Given the description of an element on the screen output the (x, y) to click on. 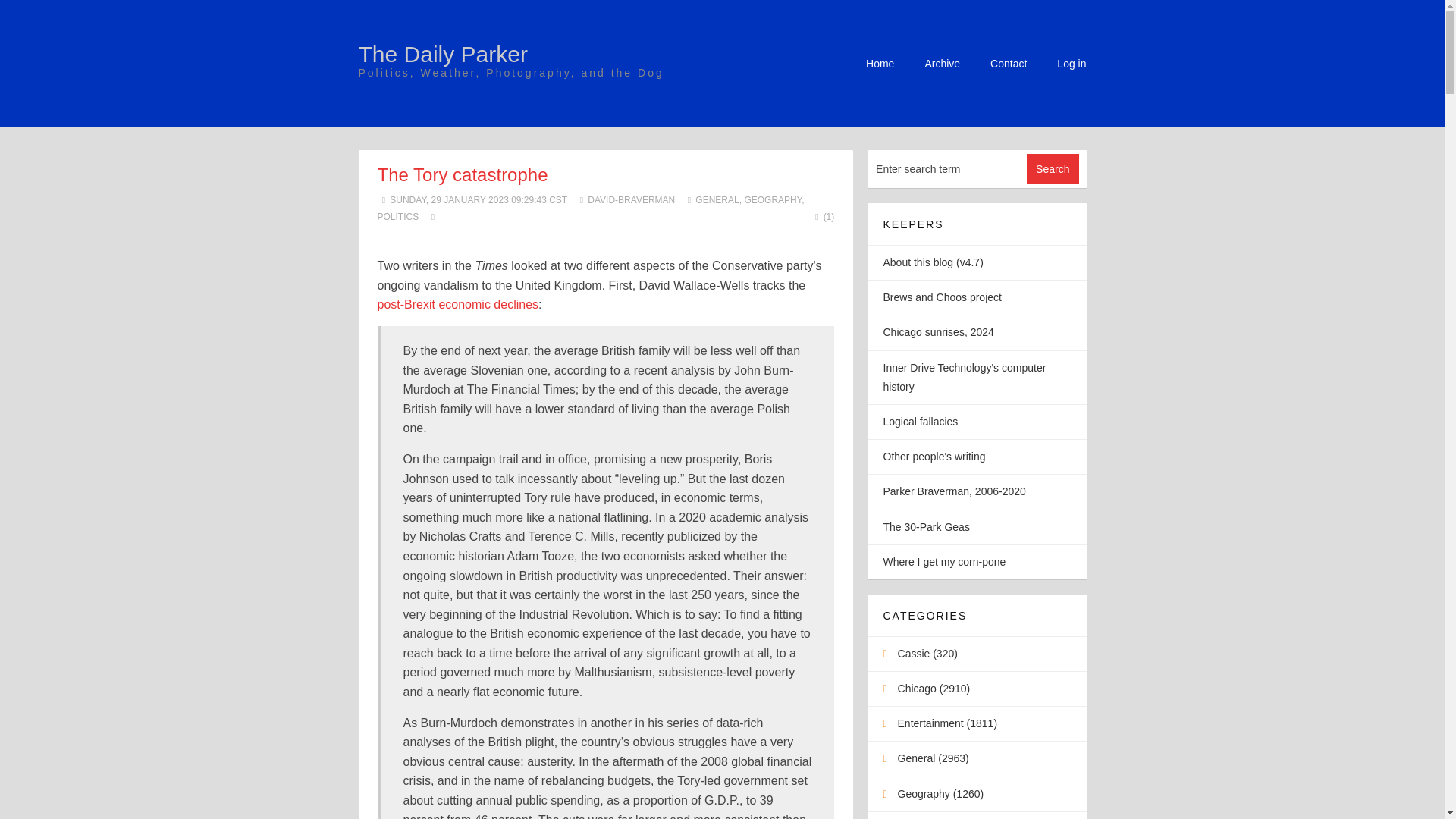
Log in (1071, 63)
The Daily Parker (442, 53)
Archive (941, 63)
The Tory catastrophe (462, 174)
Search (1053, 168)
post-Brexit economic declines (457, 304)
GENERAL (716, 199)
Open a map of the location where this post was written (432, 216)
Contact (1008, 63)
POLITICS (398, 216)
